Given the description of an element on the screen output the (x, y) to click on. 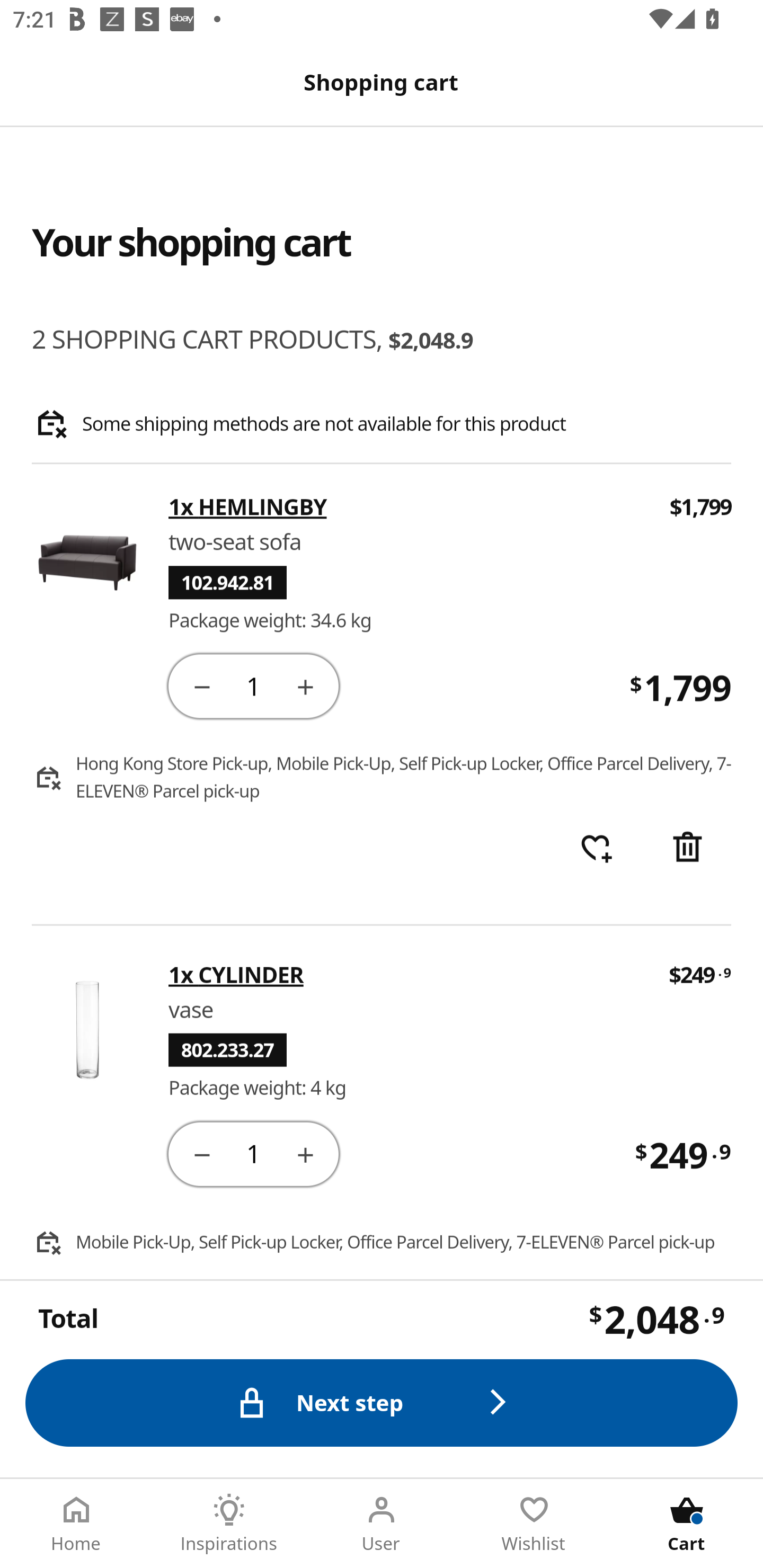
1x  HEMLINGBY 1x  HEMLINGBY (406, 507)
1 (253, 685)
 (201, 685)
 (305, 685)
  (595, 848)
 (686, 848)
1x  CYLINDER 1x  CYLINDER (405, 974)
1 (253, 1153)
 (201, 1153)
 (305, 1153)
Home
Tab 1 of 5 (76, 1522)
Inspirations
Tab 2 of 5 (228, 1522)
User
Tab 3 of 5 (381, 1522)
Wishlist
Tab 4 of 5 (533, 1522)
Cart
Tab 5 of 5 (686, 1522)
